Given the description of an element on the screen output the (x, y) to click on. 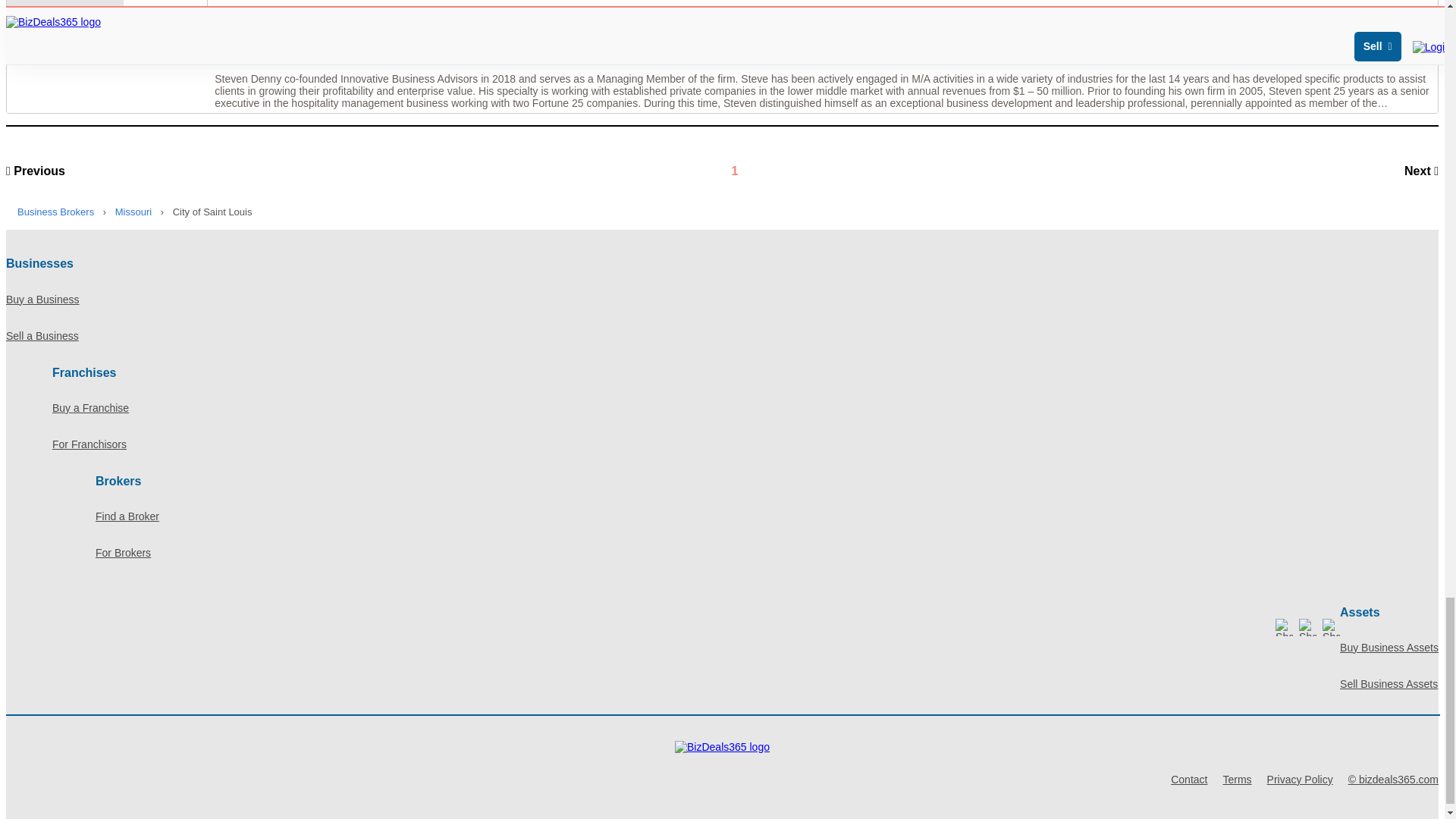
Business Brokers In Missouri  (133, 211)
Sell a Business (721, 335)
Missouri (133, 211)
Business Brokers In City of Saint Louis, MO  (210, 211)
Business Brokers In USA and Canada (57, 211)
Buy a Business (721, 299)
Innovative Business Advisors (1305, 37)
Find a Broker (767, 515)
Buy Business Assets (1388, 647)
Buy a Franchise (745, 407)
For Franchisors (745, 443)
Business Brokers (57, 211)
For Brokers (767, 552)
Sell Business Assets (1388, 683)
